Given the description of an element on the screen output the (x, y) to click on. 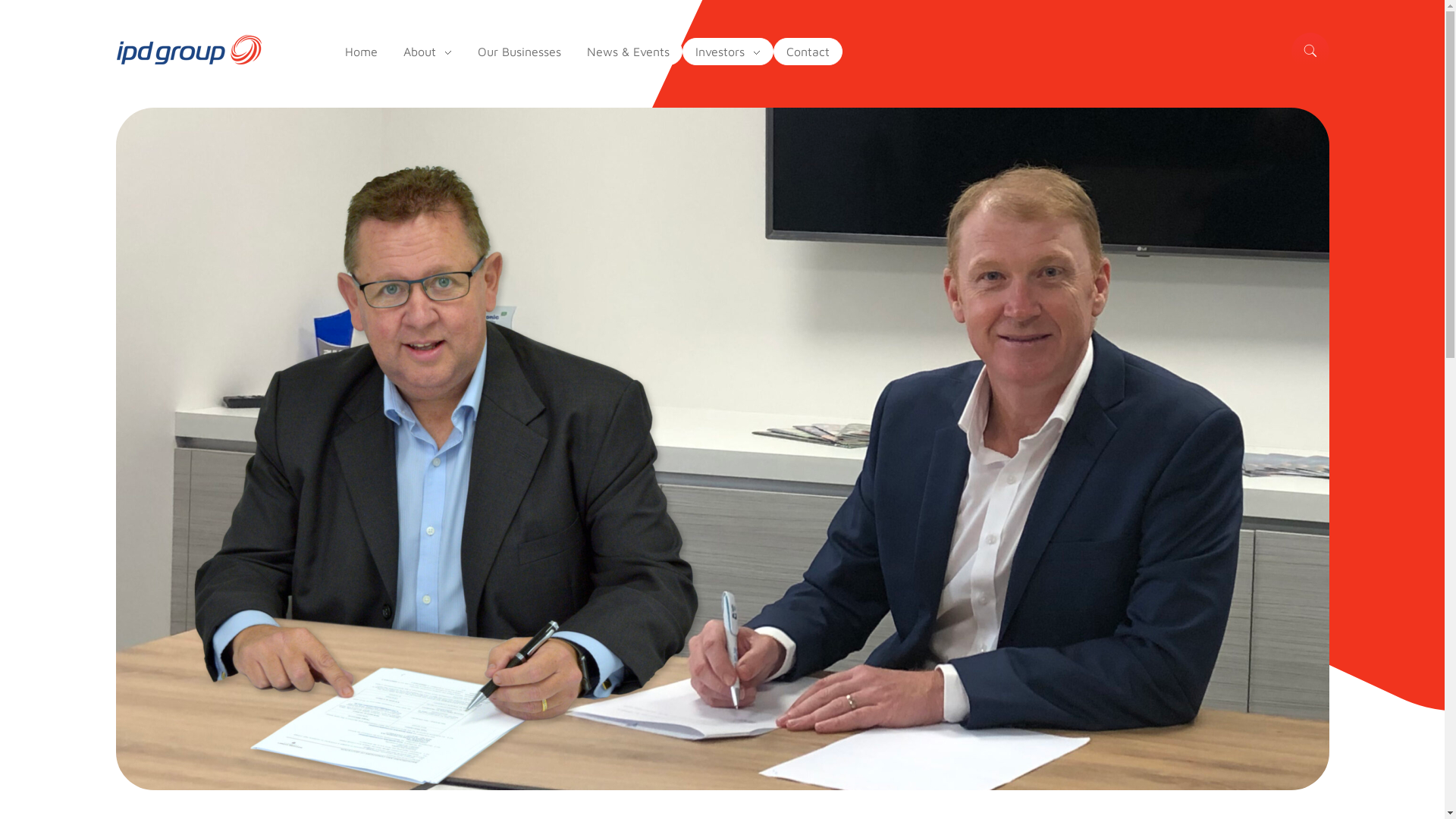
News & Events Element type: text (627, 51)
About Element type: text (427, 51)
IPD GROUP Element type: text (162, 78)
Home Element type: text (360, 51)
Investors Element type: text (726, 51)
IPD Group Element type: hover (187, 49)
Our Businesses Element type: text (519, 51)
Contact Element type: text (806, 51)
